Given the description of an element on the screen output the (x, y) to click on. 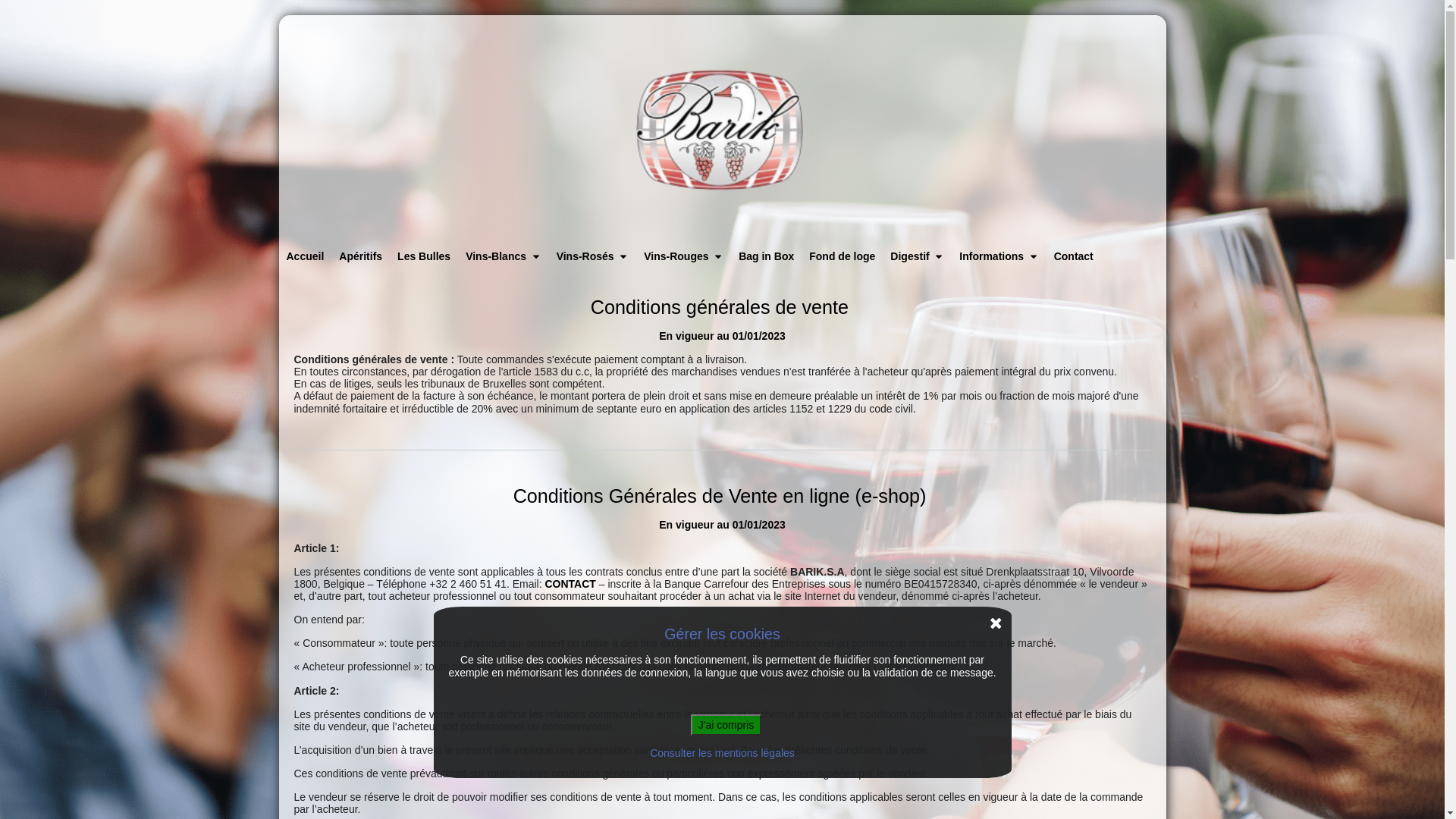
Digestif Element type: text (916, 255)
Vins-Blancs Element type: text (503, 255)
J'ai compris Element type: text (725, 724)
CONTACT Element type: text (569, 583)
Les Bulles Element type: text (423, 255)
Bag in Box Element type: text (766, 255)
  Element type: text (722, 128)
Informations Element type: text (998, 255)
Contact Element type: text (1073, 255)
Vins-Rouges Element type: text (683, 255)
Accueil Element type: text (305, 255)
Fond de loge Element type: text (841, 255)
